Given the description of an element on the screen output the (x, y) to click on. 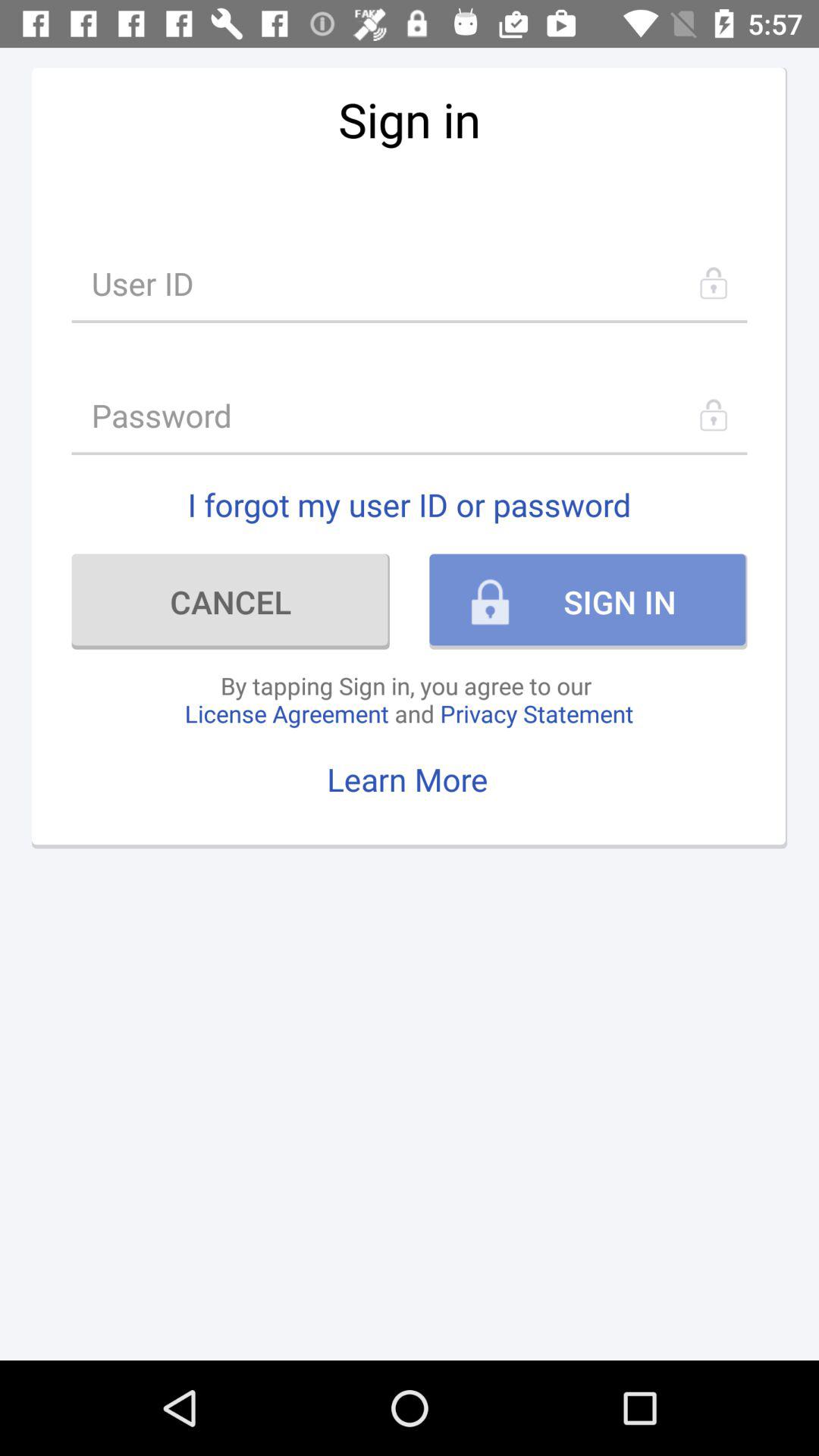
press the cancel icon (230, 601)
